Given the description of an element on the screen output the (x, y) to click on. 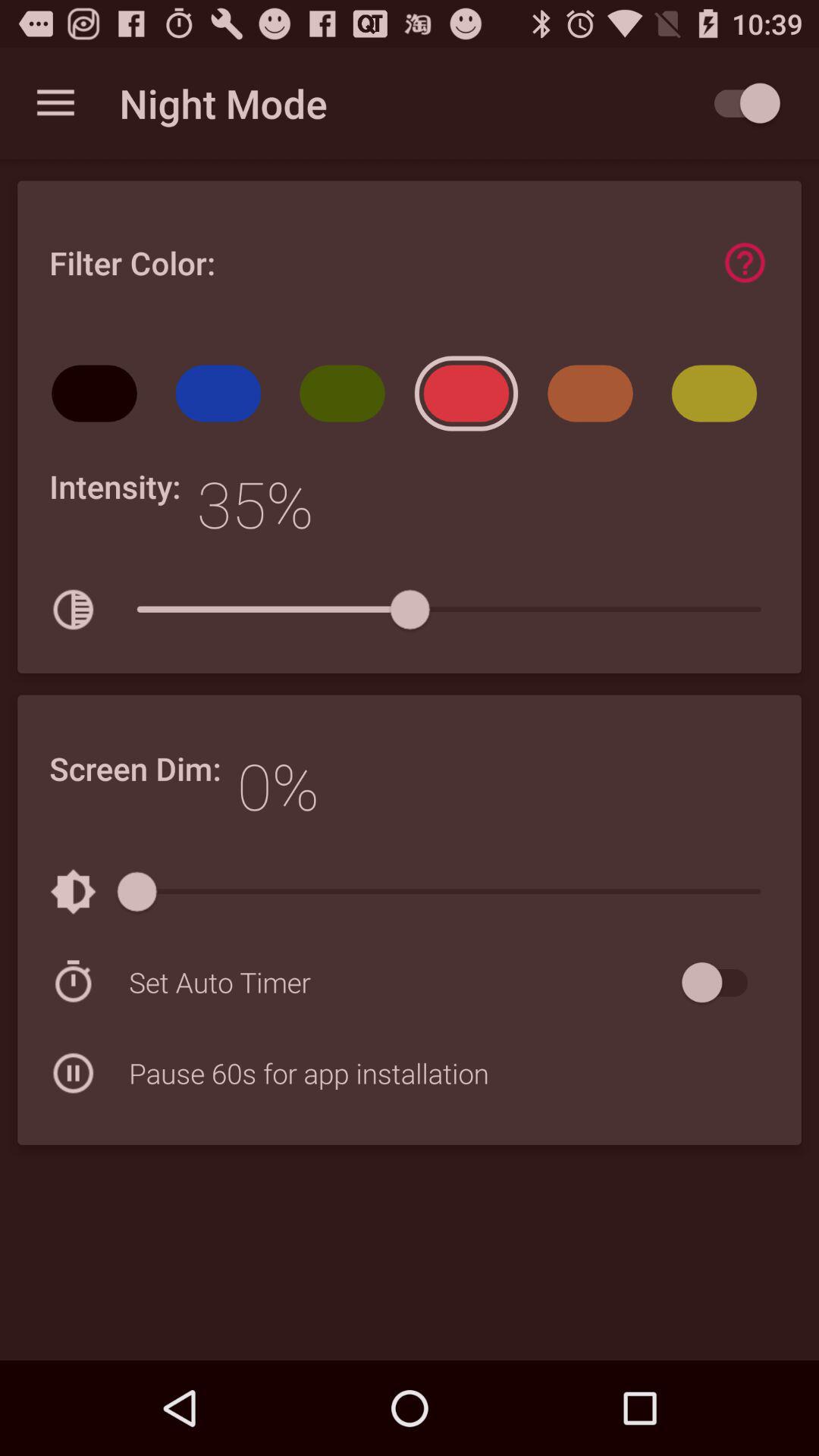
toggle auto timer option (722, 982)
